Given the description of an element on the screen output the (x, y) to click on. 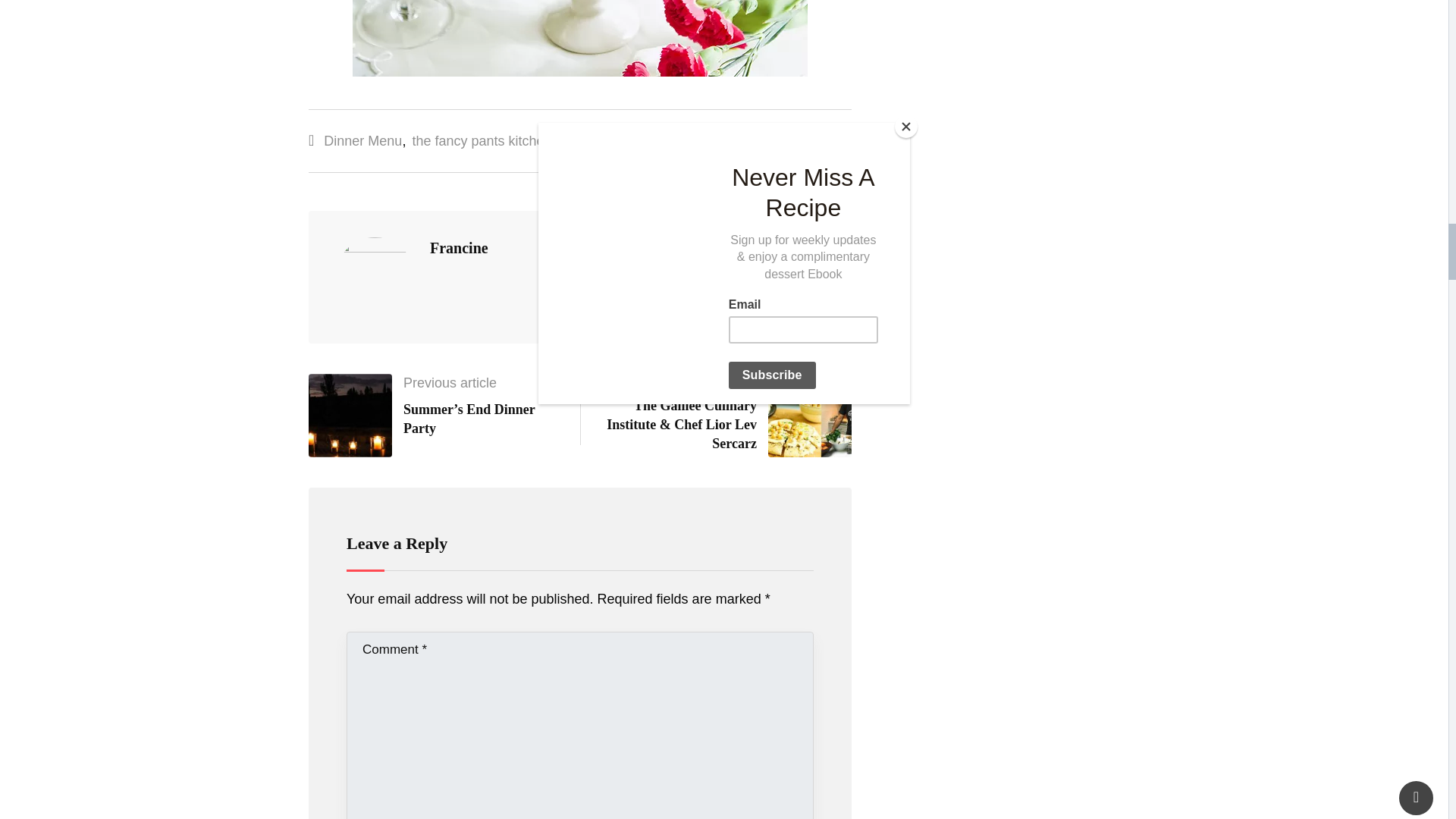
Dinner Menu (362, 140)
Next article (722, 382)
Valentine's Day Dinner Menu (641, 140)
Posts by Francine (458, 247)
Francine (458, 247)
the fancy pants kitche (477, 140)
Previous article (449, 382)
